Given the description of an element on the screen output the (x, y) to click on. 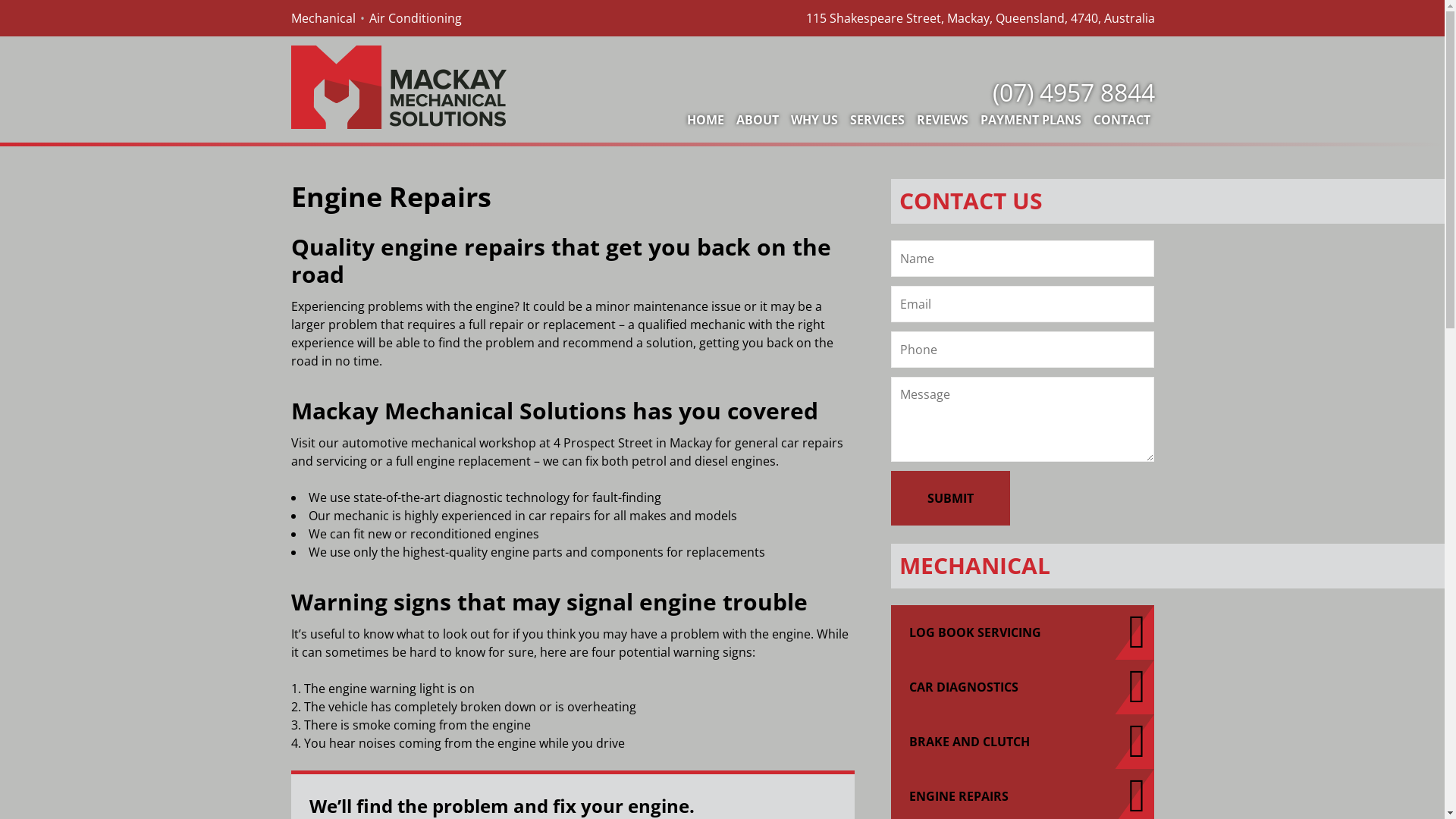
CAR DIAGNOSTICS Element type: text (1022, 686)
REVIEWS Element type: text (941, 119)
SERVICES Element type: text (876, 119)
HOME Element type: text (705, 119)
Air Conditioning Element type: text (415, 17)
115 Shakespeare Street, Mackay, Queensland, 4740, Australia Element type: text (979, 17)
Mechanical Element type: text (323, 17)
LOG BOOK SERVICING Element type: text (1022, 632)
ABOUT Element type: text (756, 119)
BRAKE AND CLUTCH Element type: text (1022, 741)
Submit Element type: text (950, 497)
(07) 4957 8844 Element type: text (1070, 91)
PAYMENT PLANS Element type: text (1030, 119)
CONTACT Element type: text (1121, 119)
WHY US Element type: text (813, 119)
